Given the description of an element on the screen output the (x, y) to click on. 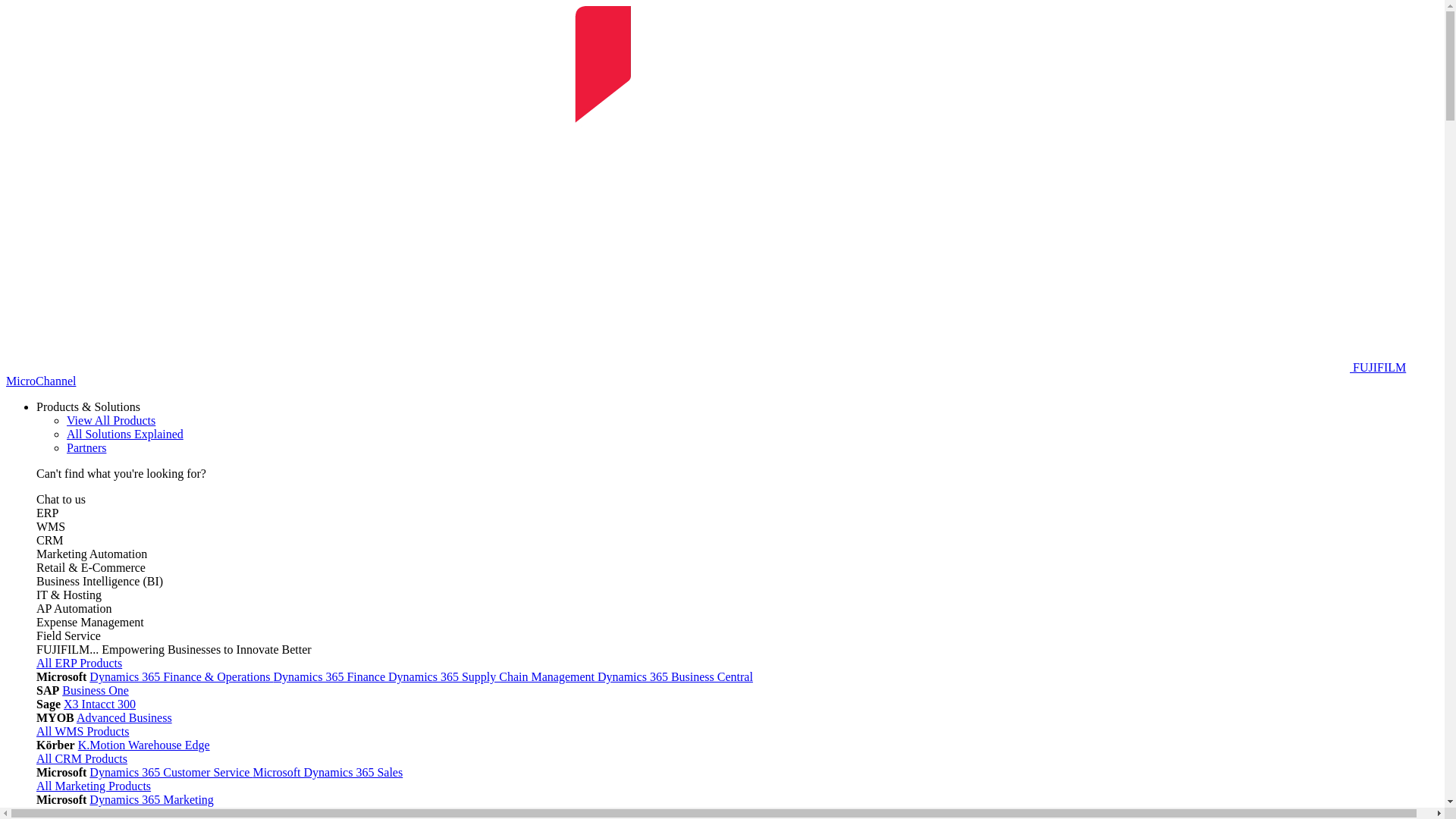
All CRM Products Element type: text (81, 758)
Dynamics 365 Finance Element type: text (331, 676)
All Solutions Explained Element type: text (124, 433)
Microsoft Dynamics 365 Sales Element type: text (327, 771)
Partners Element type: text (86, 447)
Dynamics 365 Customer Service Element type: text (170, 771)
Dynamics 365 Marketing Element type: text (151, 799)
All ERP Products Element type: text (79, 662)
All WMS Products Element type: text (82, 730)
Dynamics 365 Business Central Element type: text (675, 676)
FUJIFILM MicroChannel Element type: text (705, 373)
300 Element type: text (126, 703)
Business One Element type: text (95, 690)
View All Products Element type: text (110, 420)
Chat to us Element type: text (60, 498)
X3 Element type: text (72, 703)
Dynamics 365 Finance & Operations Element type: text (181, 676)
Advanced Business Element type: text (124, 717)
K.Motion Warehouse Edge Element type: text (144, 744)
All Marketing Products Element type: text (93, 785)
Dynamics 365 Supply Chain Management Element type: text (492, 676)
Intacct Element type: text (99, 703)
